Given the description of an element on the screen output the (x, y) to click on. 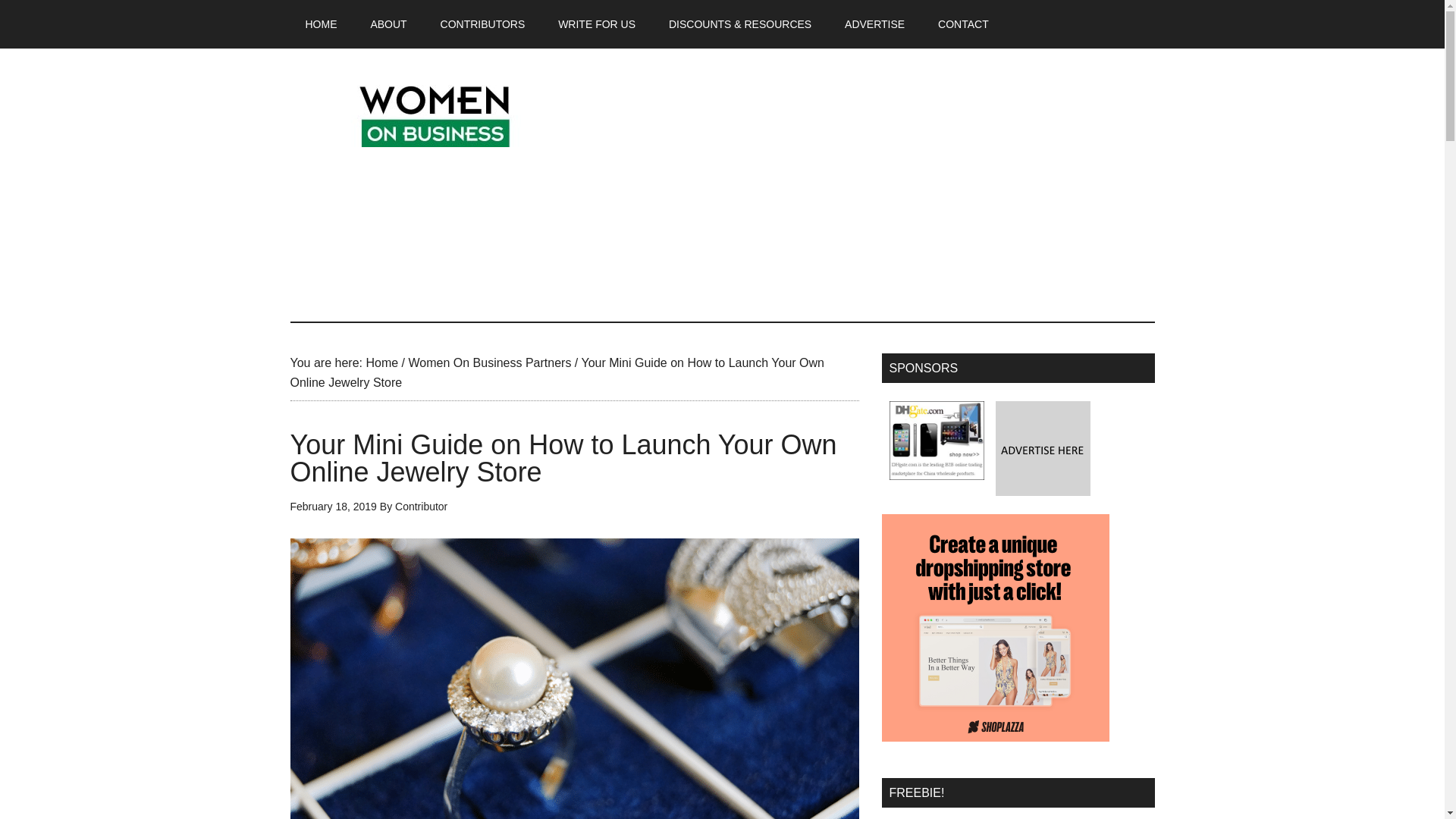
ABOUT (388, 24)
ADVERTISE (874, 24)
Home (381, 362)
Women on Business (433, 112)
HOME (320, 24)
CONTACT (963, 24)
Contributor (420, 506)
CONTRIBUTORS (482, 24)
Advertisement (878, 184)
Women On Business Partners (488, 362)
